Given the description of an element on the screen output the (x, y) to click on. 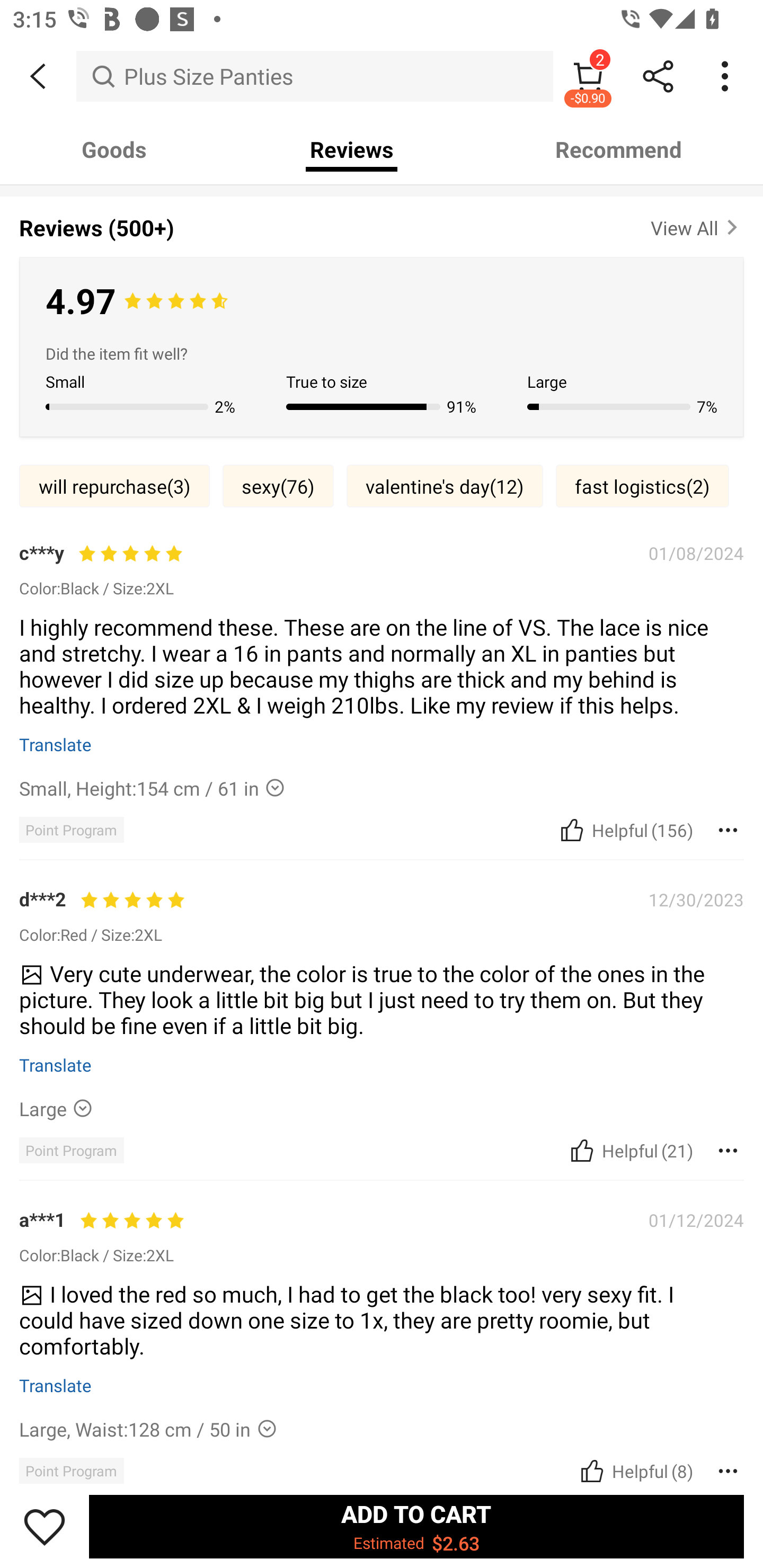
BACK (38, 75)
2 -$0.90 (588, 75)
Plus Size Panties (314, 75)
Goods (114, 149)
Reviews (351, 149)
Recommend (618, 149)
will repurchase(3) (114, 486)
sexy(76) (278, 486)
valentine's day(12) (444, 486)
fast logistics(2) (642, 486)
c***y Rating5.0 01/08/2024 Color:Black / Size:2XL (381, 568)
Translate (55, 743)
Cancel Helpful Was this article helpful? (156) (624, 830)
Point Program (71, 829)
d***2 Rating5.0 12/30/2023 Color:Red / Size:2XL (381, 915)
Translate (55, 1064)
Cancel Helpful Was this article helpful? (21) (629, 1150)
Point Program (71, 1149)
a***1 Rating5.0 01/12/2024 Color:Black / Size:2XL (381, 1235)
Translate (55, 1385)
Cancel Helpful Was this article helpful? (8) (634, 1470)
Point Program (71, 1470)
ADD TO CART Estimated   $2.63 (416, 1526)
Save (44, 1526)
